Given the description of an element on the screen output the (x, y) to click on. 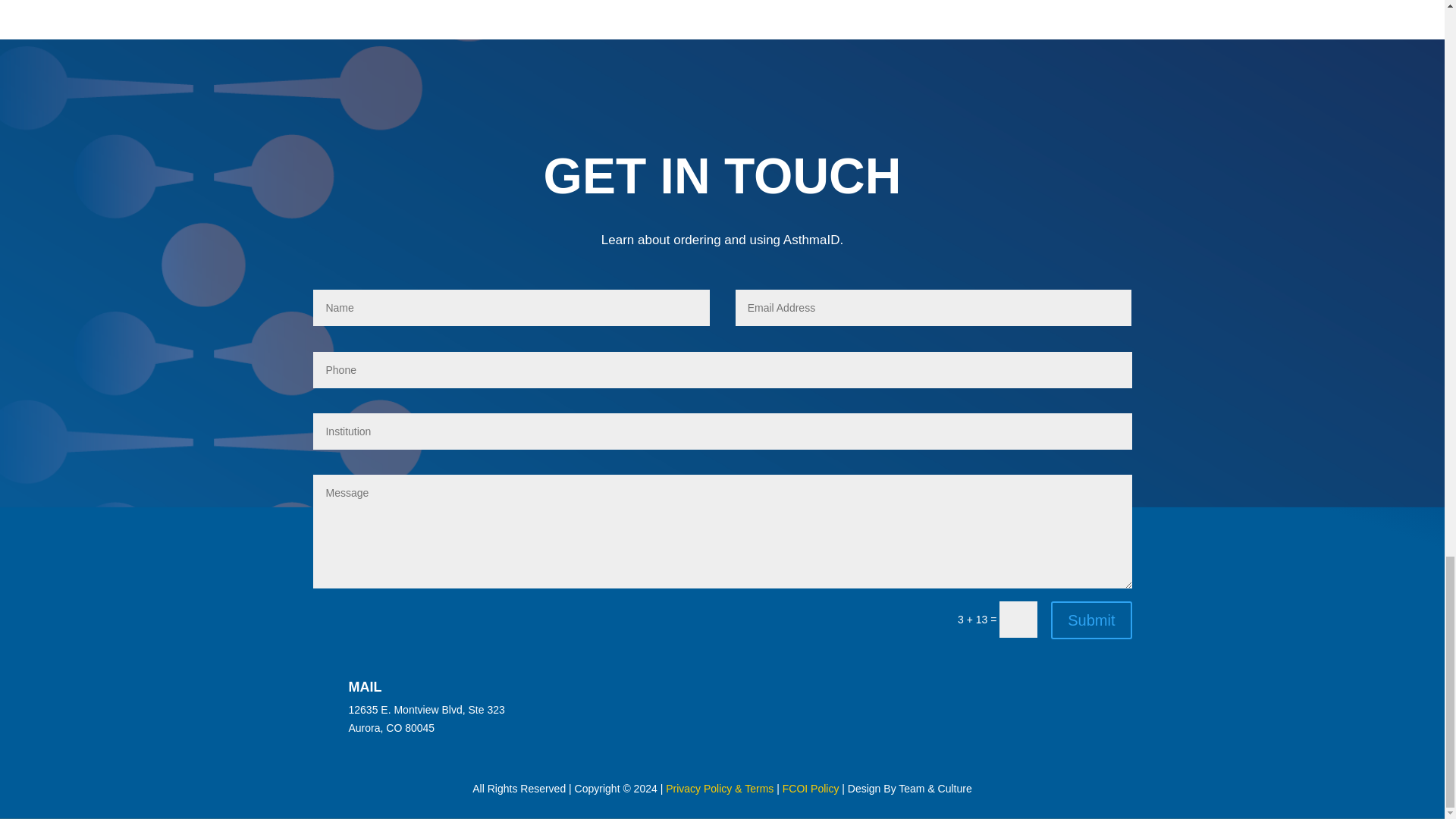
FCOI Policy (811, 788)
Submit (1091, 620)
